Given the description of an element on the screen output the (x, y) to click on. 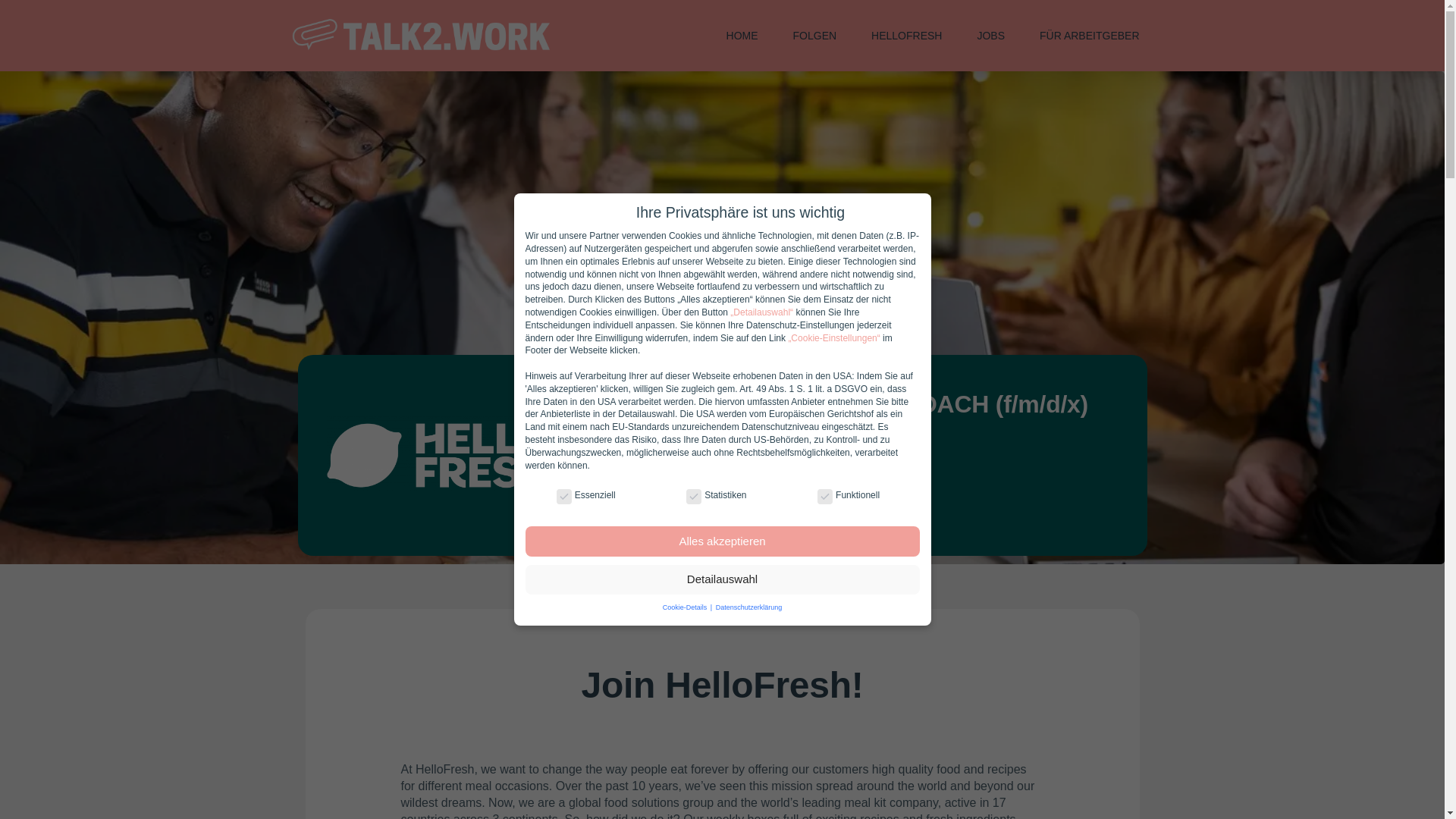
APPLY NOW (671, 507)
HELLOFRESH (906, 35)
FOLGEN (814, 35)
